Given the description of an element on the screen output the (x, y) to click on. 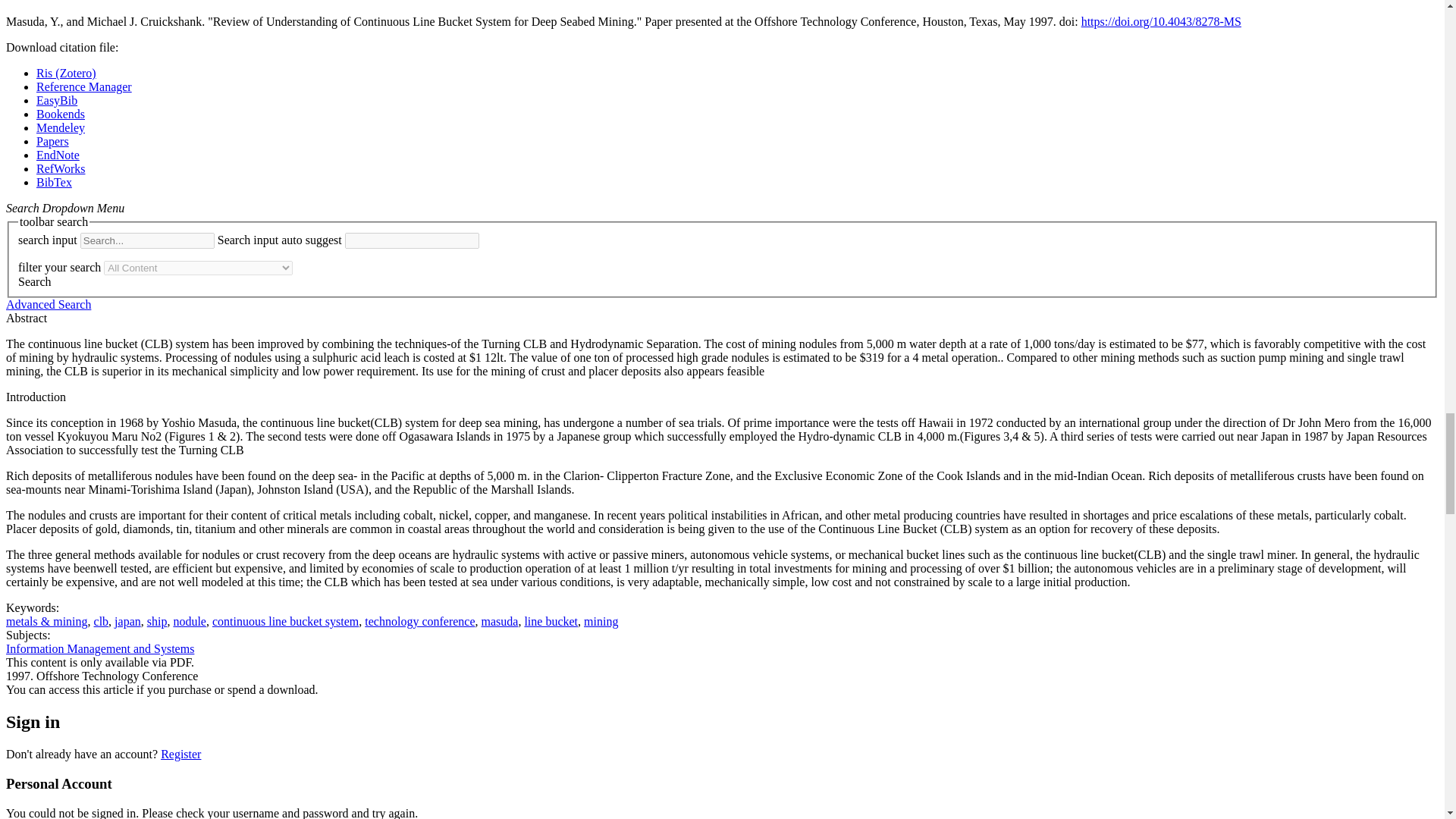
search input (147, 240)
